Given the description of an element on the screen output the (x, y) to click on. 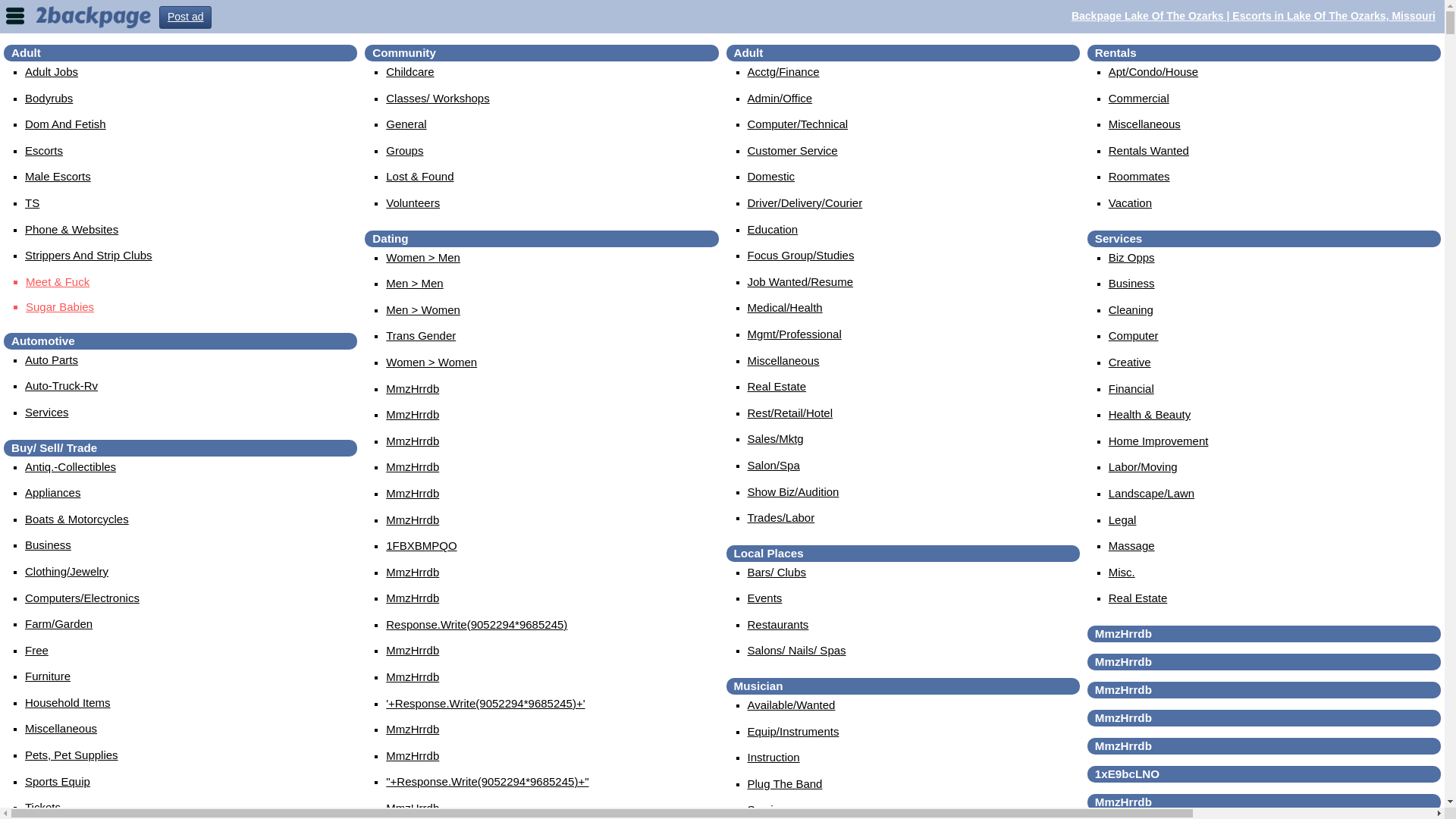
Adult Jobs Element type: text (51, 71)
Commercial Element type: text (1138, 97)
MmzHrrdb Element type: text (412, 755)
Real Estate Element type: text (1137, 597)
Sales/Mktg Element type: text (775, 438)
Rest/Retail/Hotel Element type: text (790, 412)
Driver/Delivery/Courier Element type: text (804, 202)
Free Element type: text (36, 649)
Admin/Office Element type: text (779, 97)
Labor/Moving Element type: text (1142, 466)
Apt/Condo/House Element type: text (1153, 71)
TS Element type: text (32, 202)
Furniture Element type: text (47, 675)
Response.Write(9052294*9685245) Element type: text (476, 624)
Education Element type: text (772, 228)
Cleaning Element type: text (1130, 309)
Real Estate Element type: text (776, 385)
Misc. Element type: text (1121, 571)
Instruction Element type: text (773, 756)
Pets, Pet Supplies Element type: text (71, 754)
Business Element type: text (48, 544)
Landscape/Lawn Element type: text (1151, 492)
Bars/ Clubs Element type: text (776, 571)
Miscellaneous Element type: text (1144, 123)
MmzHrrdb Element type: text (412, 492)
Salons/ Nails/ Spas Element type: text (796, 649)
Groups Element type: text (404, 150)
Phone & Websites Element type: text (71, 228)
Antiq.-Collectibles Element type: text (70, 466)
Miscellaneous Element type: text (783, 360)
Men > Men Element type: text (413, 282)
Post ad Element type: text (185, 17)
MmzHrrdb Element type: text (412, 597)
General Element type: text (405, 123)
Women > Women Element type: text (430, 361)
Events Element type: text (764, 597)
MmzHrrdb Element type: text (412, 649)
Services Element type: text (769, 809)
Vacation Element type: text (1129, 202)
Childcare Element type: text (409, 71)
Mgmt/Professional Element type: text (794, 333)
Plug The Band Element type: text (784, 783)
Clothing/Jewelry Element type: text (66, 570)
Focus Group/Studies Element type: text (800, 254)
MmzHrrdb Element type: text (412, 676)
Rentals Wanted Element type: text (1148, 150)
Medical/Health Element type: text (784, 307)
Sports Equip Element type: text (57, 781)
nav Element type: text (15, 15)
Job Wanted/Resume Element type: text (800, 281)
Restaurants Element type: text (778, 624)
Male Escorts Element type: text (58, 175)
MmzHrrdb Element type: text (412, 571)
1FBXBMPQO Element type: text (420, 545)
MmzHrrdb Element type: text (412, 728)
Creative Element type: text (1129, 361)
MmzHrrdb Element type: text (412, 466)
Bodyrubs Element type: text (48, 97)
Household Items Element type: text (67, 702)
Boats & Motorcycles Element type: text (76, 518)
MmzHrrdb Element type: text (412, 518)
"+response.Write(9052294*9685245)+" Element type: text (486, 781)
Men > Women Element type: text (422, 309)
Auto Parts Element type: text (51, 359)
Miscellaneous Element type: text (61, 727)
MmzHrrdb Element type: text (412, 388)
SugAr BaBies Element type: text (191, 306)
Trans Gender Element type: text (420, 335)
Farm/Garden Element type: text (58, 623)
Computer/Technical Element type: text (797, 123)
Legal Element type: text (1122, 518)
Appliances Element type: text (52, 492)
Customer Service Element type: text (792, 150)
Domestic Element type: text (771, 175)
MeeT & FuCk Element type: text (191, 281)
Home Improvement Element type: text (1158, 440)
MmzHrrdb Element type: text (412, 413)
2backpage Element type: hover (93, 15)
Financial Element type: text (1131, 388)
Show Biz/Audition Element type: text (793, 491)
Health & Beauty Element type: text (1149, 413)
Biz Opps Element type: text (1131, 257)
Business Element type: text (1131, 282)
Massage Element type: text (1131, 545)
Acctg/Finance Element type: text (783, 71)
Computer Element type: text (1133, 335)
Equip/Instruments Element type: text (793, 730)
Trades/Labor Element type: text (781, 517)
Classes/ Workshops Element type: text (437, 97)
Salon/Spa Element type: text (773, 464)
Strippers And Strip Clubs Element type: text (88, 254)
Dom And Fetish Element type: text (65, 123)
MmzHrrdb Element type: text (412, 440)
Lost & Found Element type: text (419, 175)
Auto-Truck-Rv Element type: text (61, 385)
Computers/Electronics Element type: text (82, 597)
Tickets Element type: text (42, 806)
MmzHrrdb Element type: text (412, 807)
Volunteers Element type: text (412, 202)
Services Element type: text (47, 411)
Escorts Element type: text (43, 150)
'+response.Write(9052294*9685245)+' Element type: text (484, 702)
Women > Men Element type: text (422, 257)
Roommates Element type: text (1139, 175)
Available/Wanted Element type: text (791, 704)
